Given the description of an element on the screen output the (x, y) to click on. 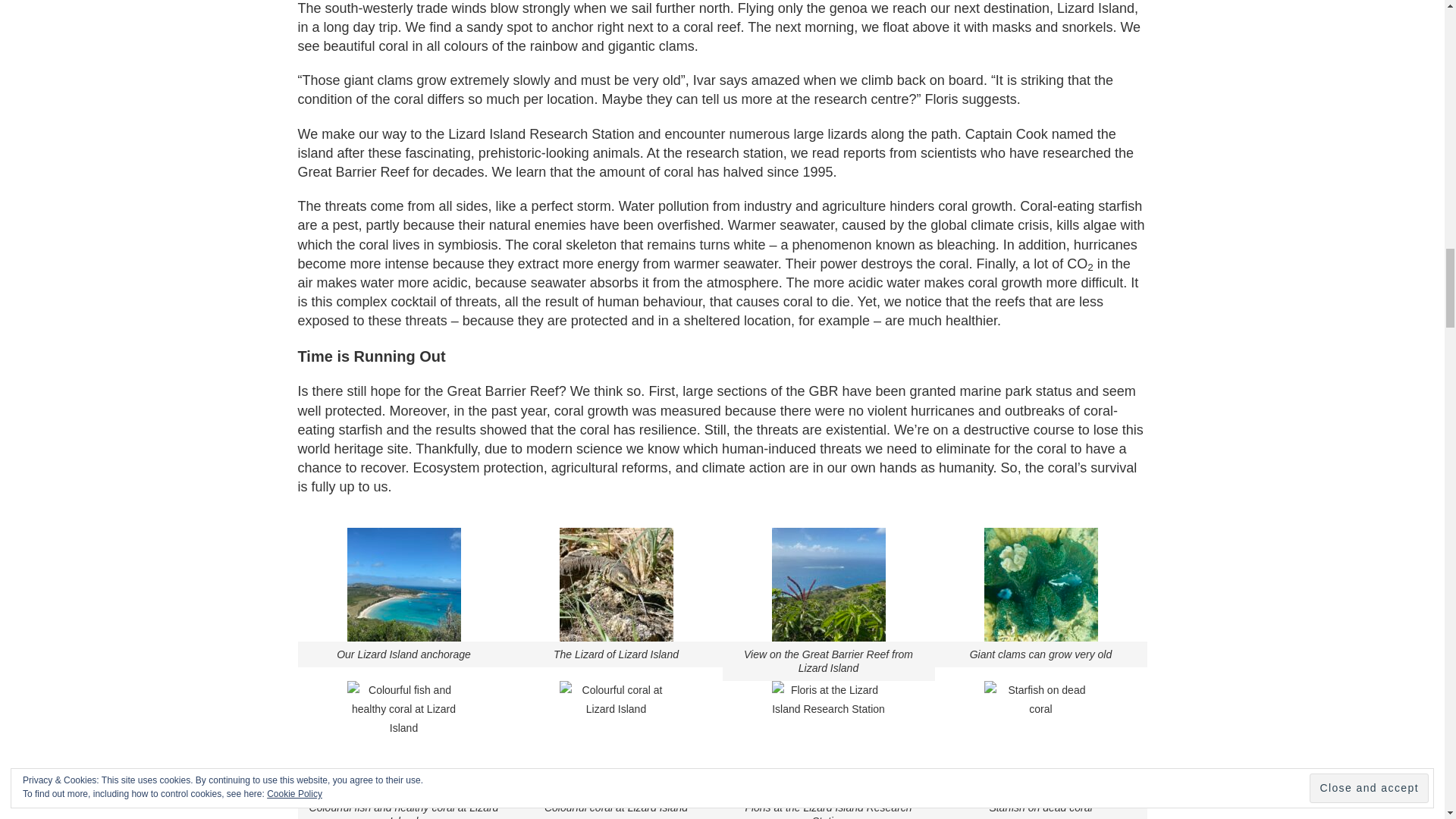
sandy spot to anchor (528, 27)
Lizard Island Research Station (540, 133)
